Given the description of an element on the screen output the (x, y) to click on. 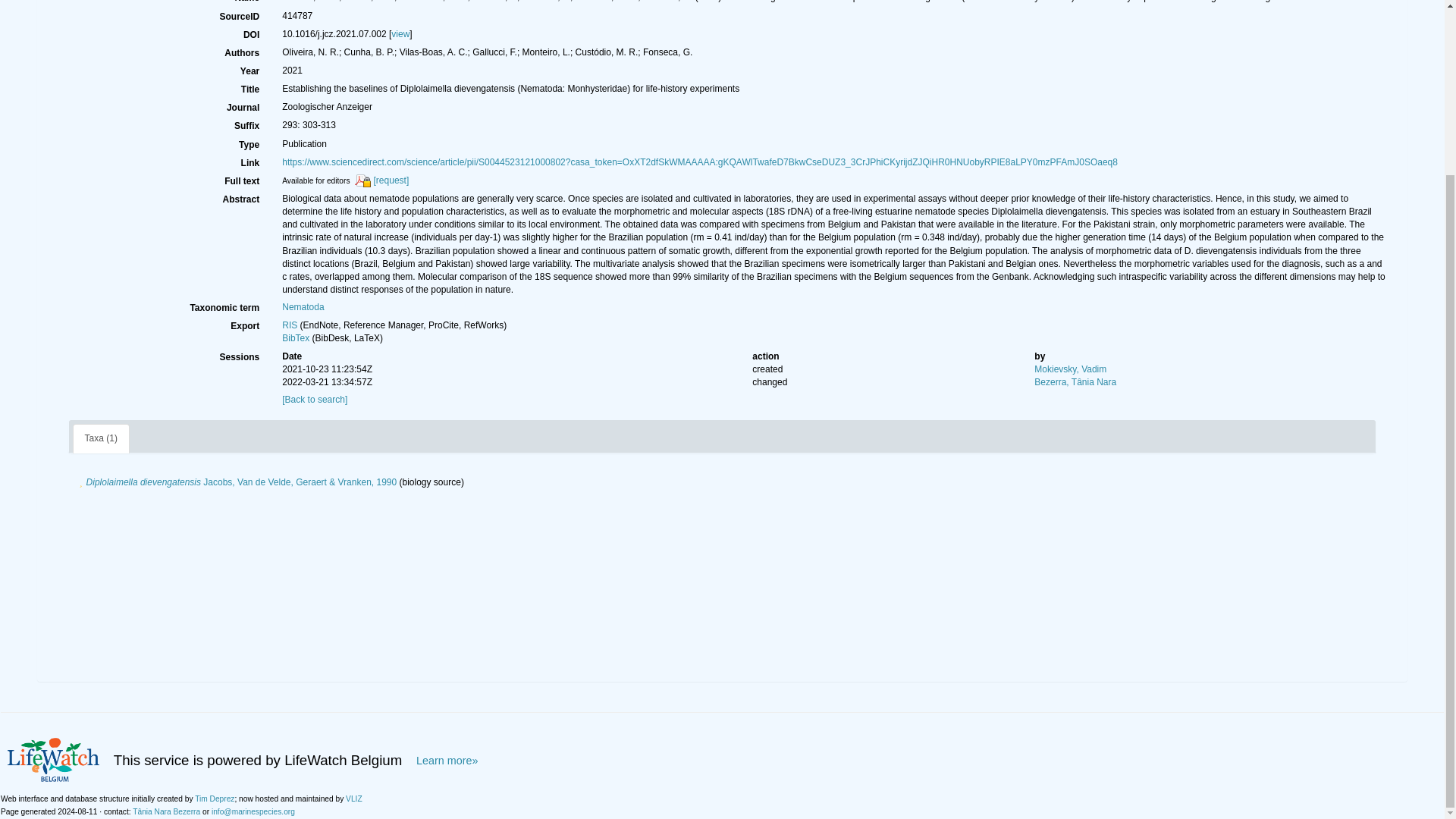
Mokievsky, Vadim (1069, 368)
view (400, 33)
Item is checked (80, 481)
PDF available (363, 181)
VLIZ (354, 798)
Tim Deprez (214, 798)
Nematoda (302, 307)
BibTex (295, 337)
RIS (289, 325)
